Given the description of an element on the screen output the (x, y) to click on. 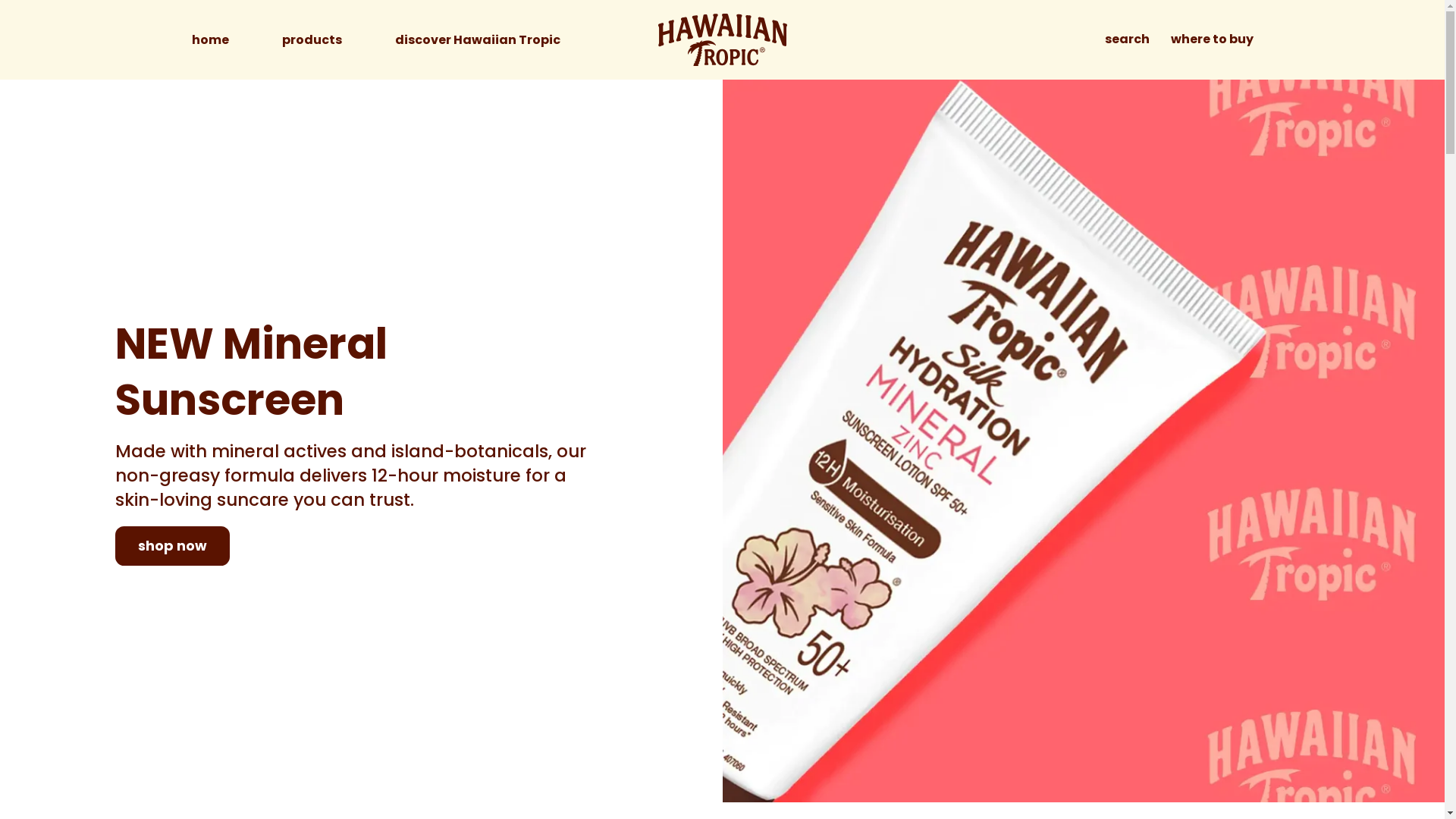
search Element type: text (1126, 39)
discover Hawaiian Tropic Element type: text (476, 40)
home Element type: text (209, 40)
products Element type: text (312, 40)
where to buy Element type: text (1211, 39)
